Given the description of an element on the screen output the (x, y) to click on. 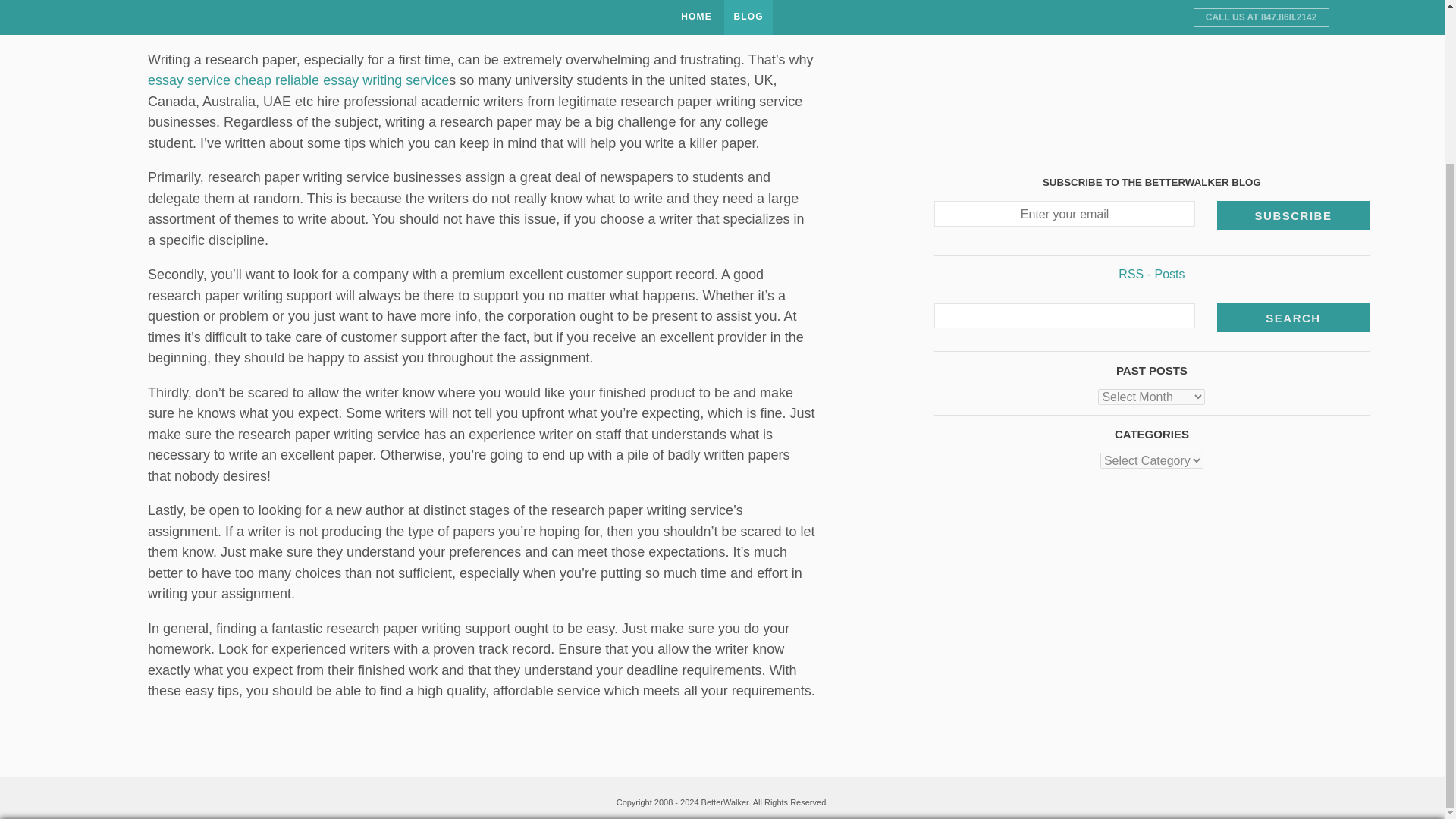
cheap reliable essay writing service (341, 79)
Search (1293, 123)
Subscribe (1293, 21)
Search (1293, 123)
RSS - Posts (1151, 79)
Subscribe (1293, 21)
essay service (191, 79)
